Given the description of an element on the screen output the (x, y) to click on. 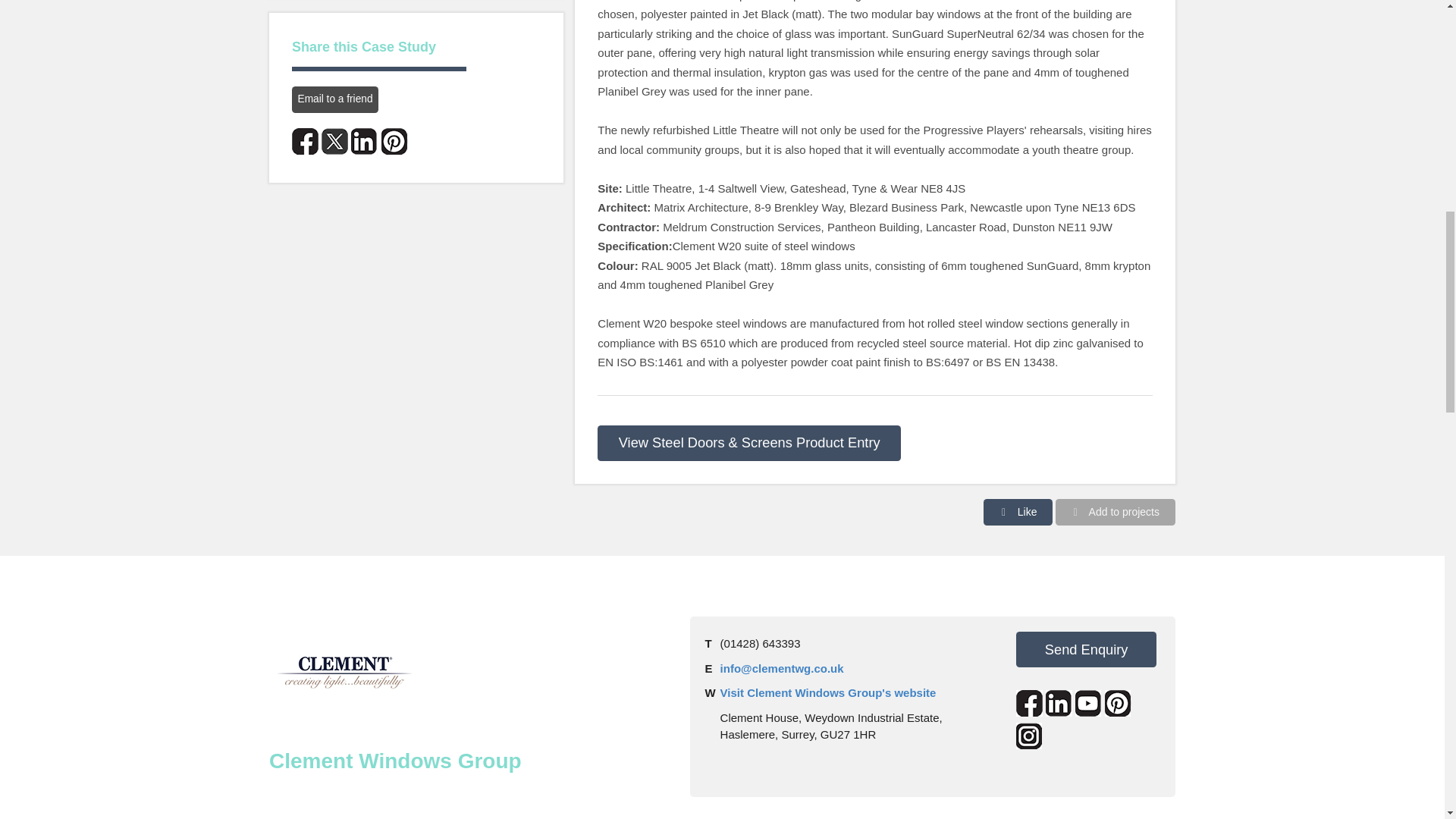
Share on Facebook (305, 140)
Follow Clement Windows Group on Pinterest (1118, 703)
Clement Windows Group (344, 673)
Follow Clement Windows Group on Facebook (1029, 703)
Follow Clement Windows Group on LinkedIn (1058, 703)
Share on Twitter (334, 140)
Share on Pinterest (394, 140)
Follow Clement Windows Group on Instagram (1029, 735)
Share on LinkedIn (363, 140)
Follow Clement Windows Group on YouTube (1088, 703)
